Given the description of an element on the screen output the (x, y) to click on. 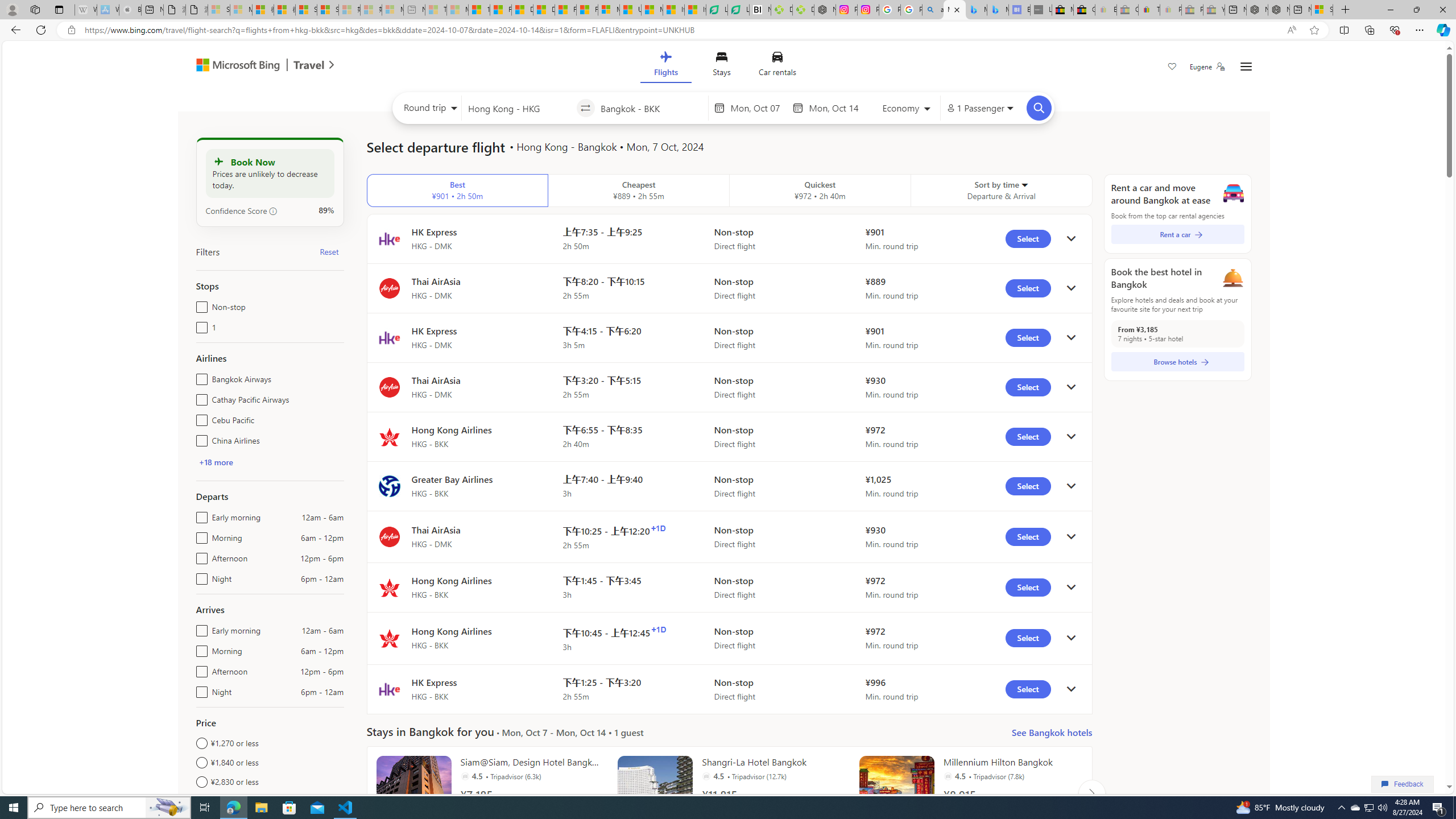
Sign in to your Microsoft account - Sleeping (218, 9)
Microsoft account | Account Checkup - Sleeping (392, 9)
Food and Drink - MSN (500, 9)
Foo BAR | Trusted Community Engagement and Contributions (587, 9)
Click to scroll right (1091, 792)
Early morning12am - 6am (199, 628)
